Given the description of an element on the screen output the (x, y) to click on. 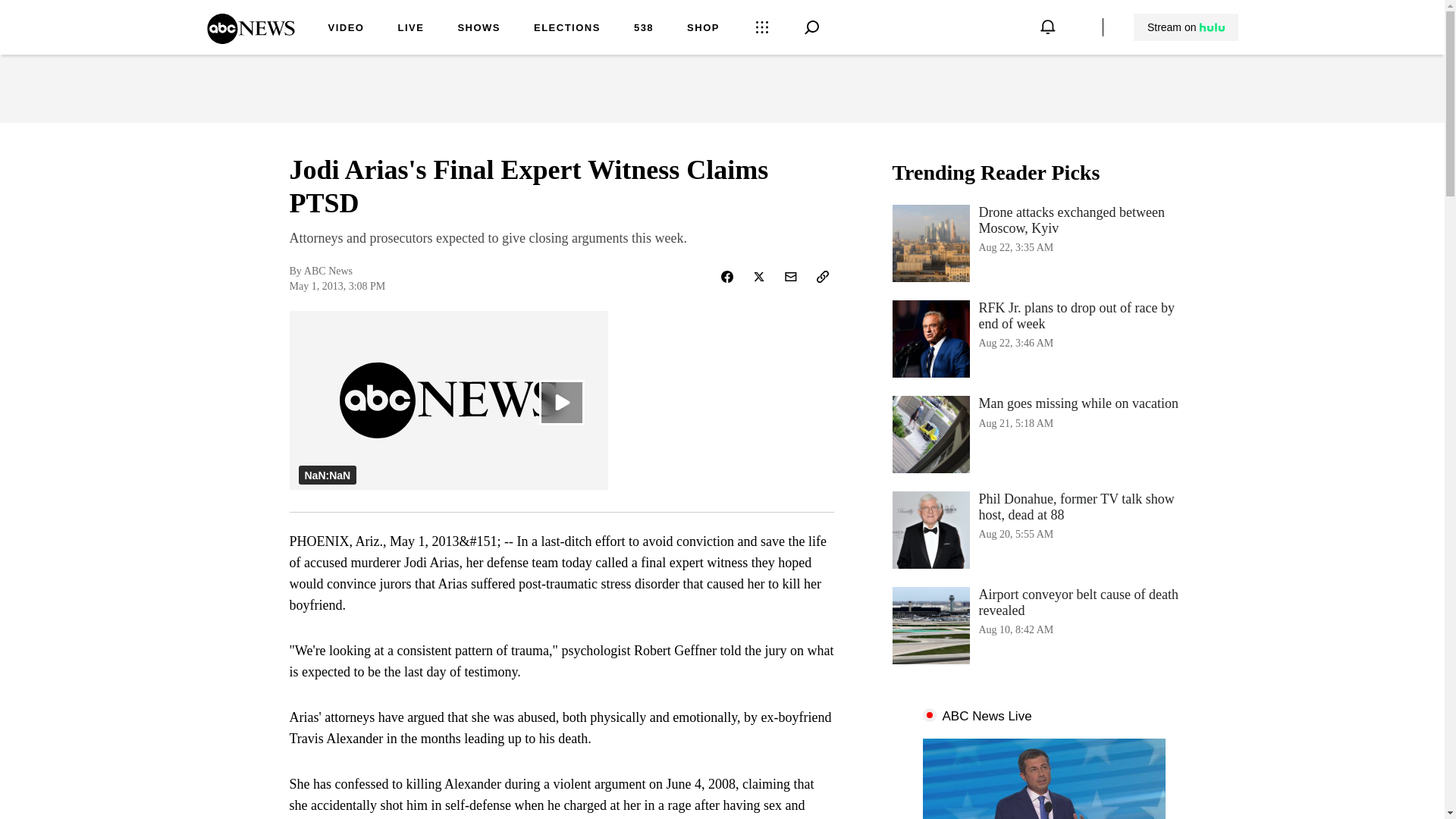
538 (1043, 242)
Stream on (643, 28)
SHOWS (1186, 26)
Stream on (478, 28)
LIVE (1185, 27)
SHOP (410, 28)
